Given the description of an element on the screen output the (x, y) to click on. 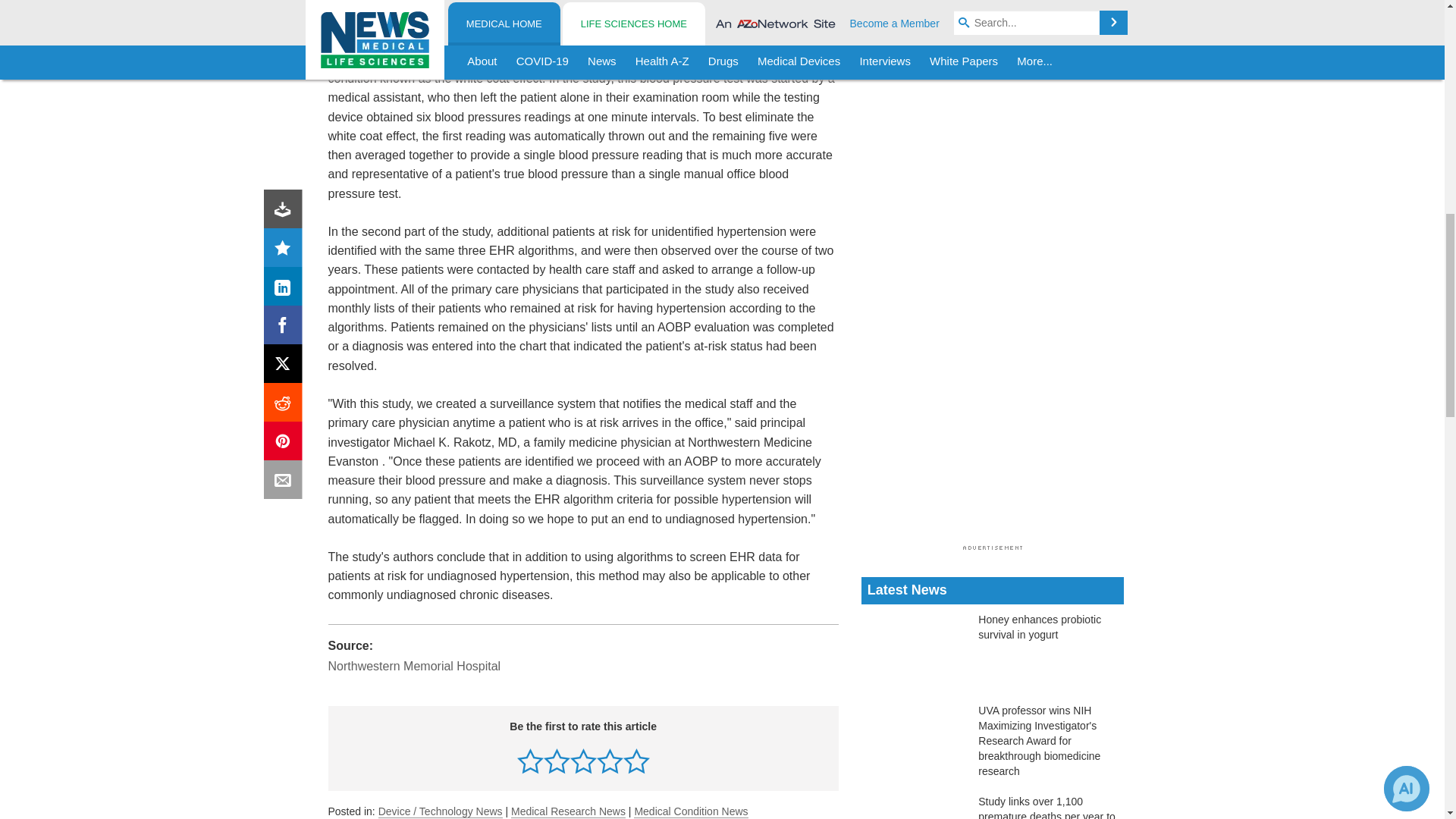
Rate this 4 stars out of 5 (609, 760)
Rate this 5 stars out of 5 (636, 760)
